Given the description of an element on the screen output the (x, y) to click on. 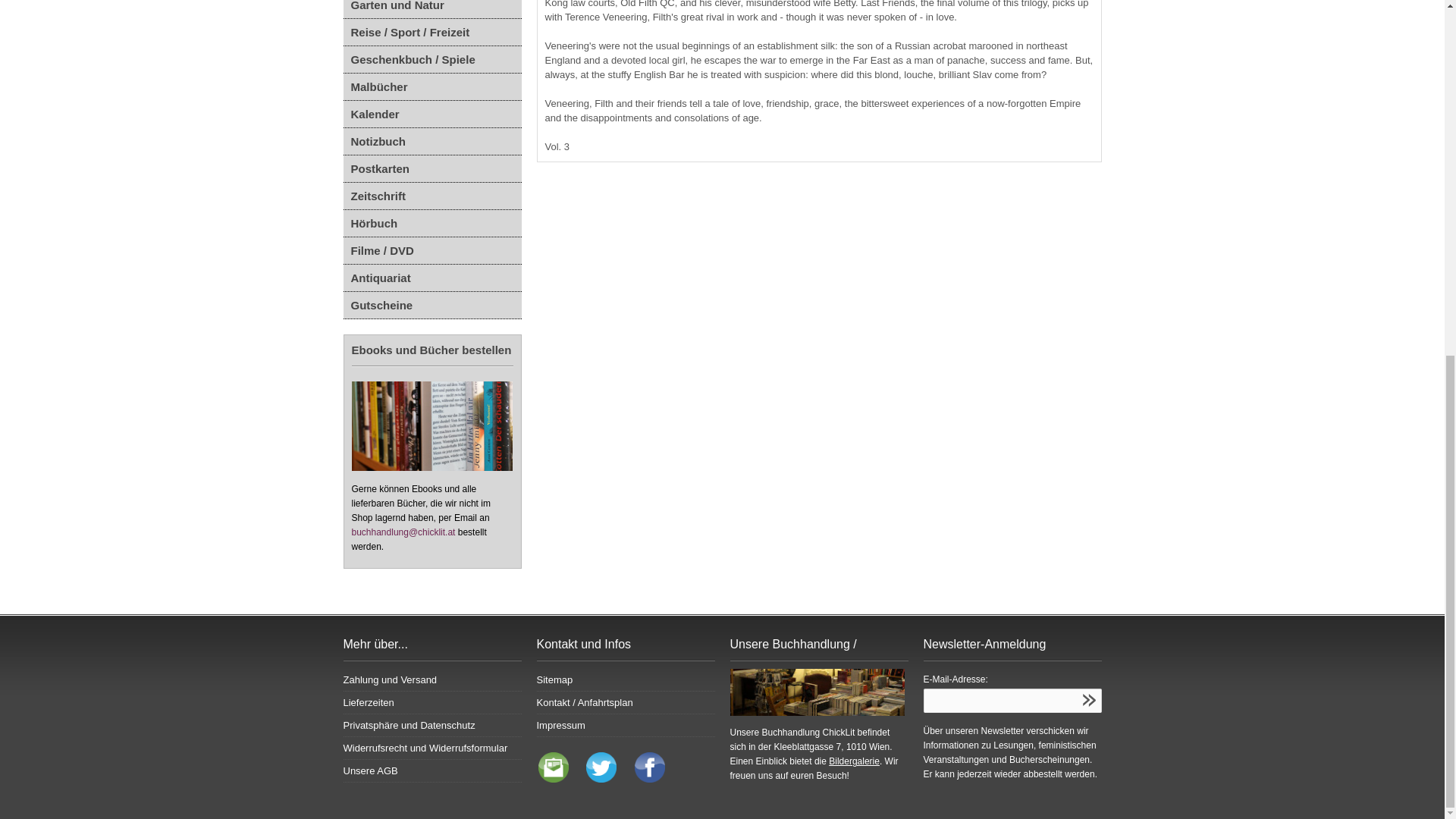
Garten und Natur (431, 9)
Kalender (431, 113)
Antiquariat (431, 277)
Zeitschrift (431, 195)
Postkarten (431, 168)
Gutscheine (431, 305)
Garten und Natur (431, 9)
Notizbuch (431, 141)
